Given the description of an element on the screen output the (x, y) to click on. 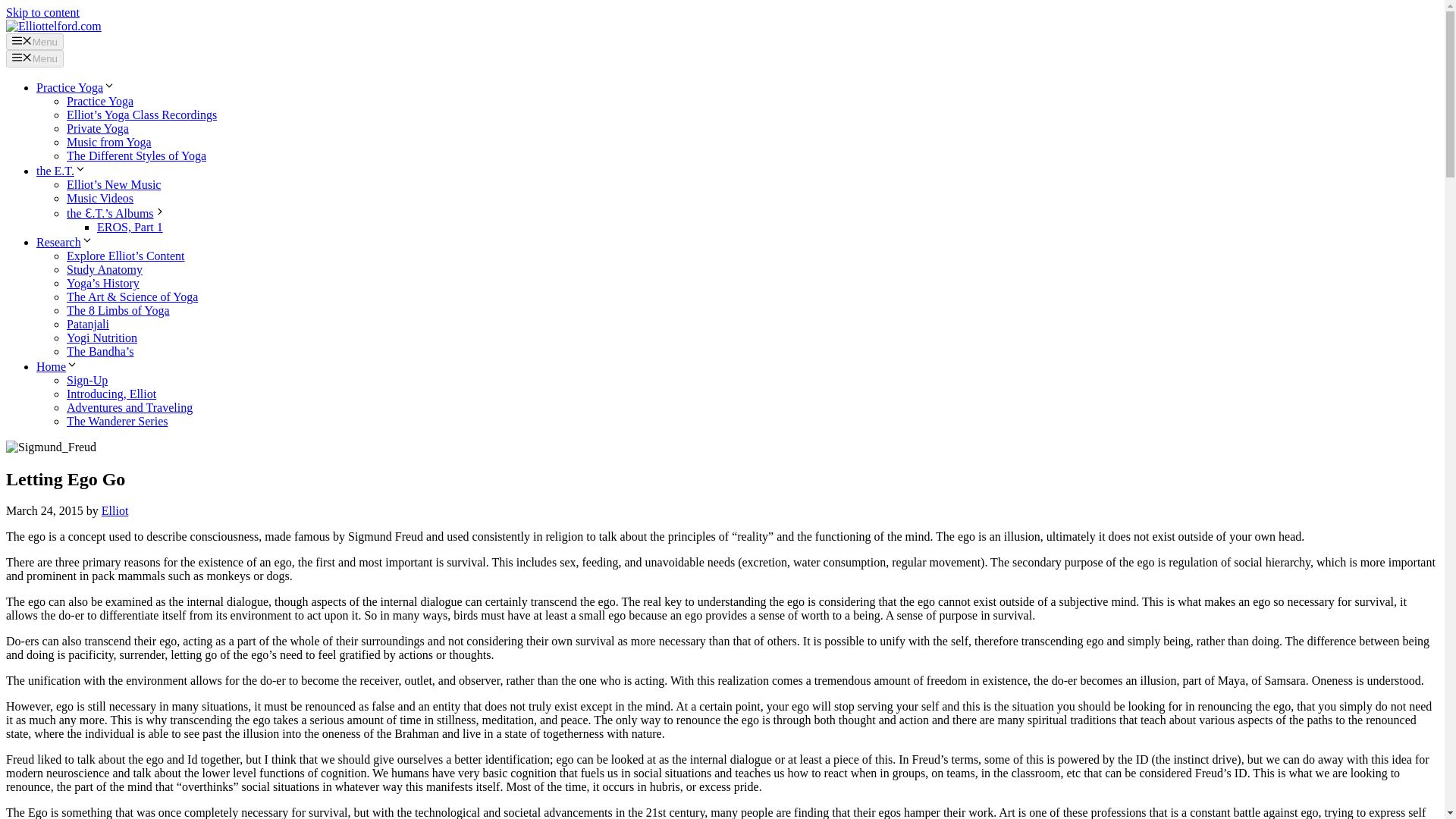
Skip to content (42, 11)
EROS, Part 1 (130, 226)
The Wanderer Series (116, 420)
Menu (34, 57)
Practice Yoga (99, 101)
Sign-Up (86, 379)
Study Anatomy (104, 269)
Music from Yoga (108, 141)
Patanjali (87, 323)
Home (57, 366)
